Given the description of an element on the screen output the (x, y) to click on. 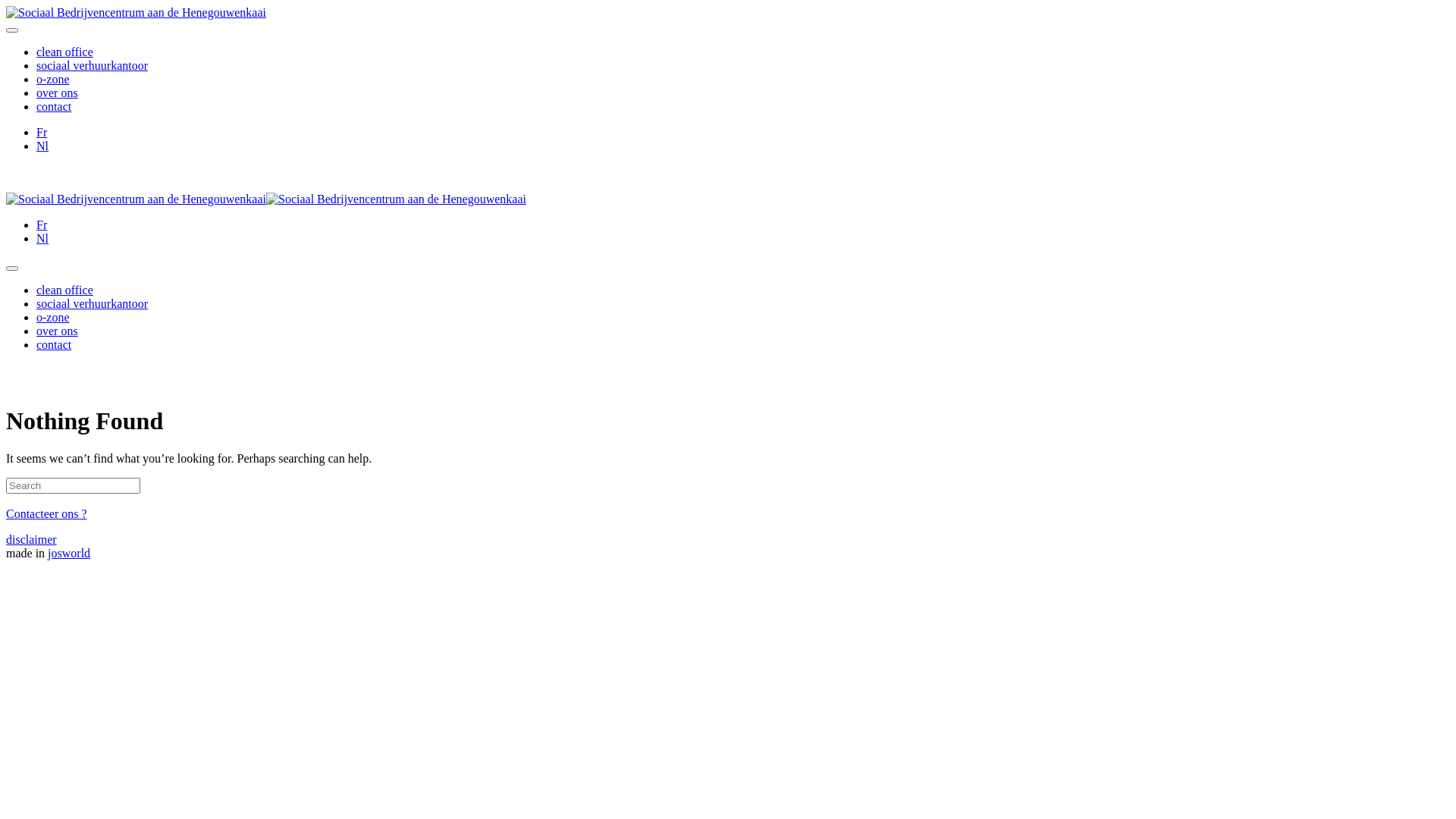
o-zone Element type: text (52, 78)
sociaal verhuurkantoor Element type: text (91, 65)
Fr Element type: text (41, 131)
sociaal verhuurkantoor Element type: text (91, 303)
Contacteer ons ? Element type: text (46, 513)
contact Element type: text (53, 106)
o-zone Element type: text (52, 316)
Nl Element type: text (42, 145)
contact Element type: text (53, 344)
clean office Element type: text (64, 51)
Fr Element type: text (41, 224)
josworld Element type: text (68, 552)
over ons Element type: text (57, 330)
disclaimer Element type: text (31, 539)
clean office Element type: text (64, 289)
Nl Element type: text (42, 238)
over ons Element type: text (57, 92)
